Given the description of an element on the screen output the (x, y) to click on. 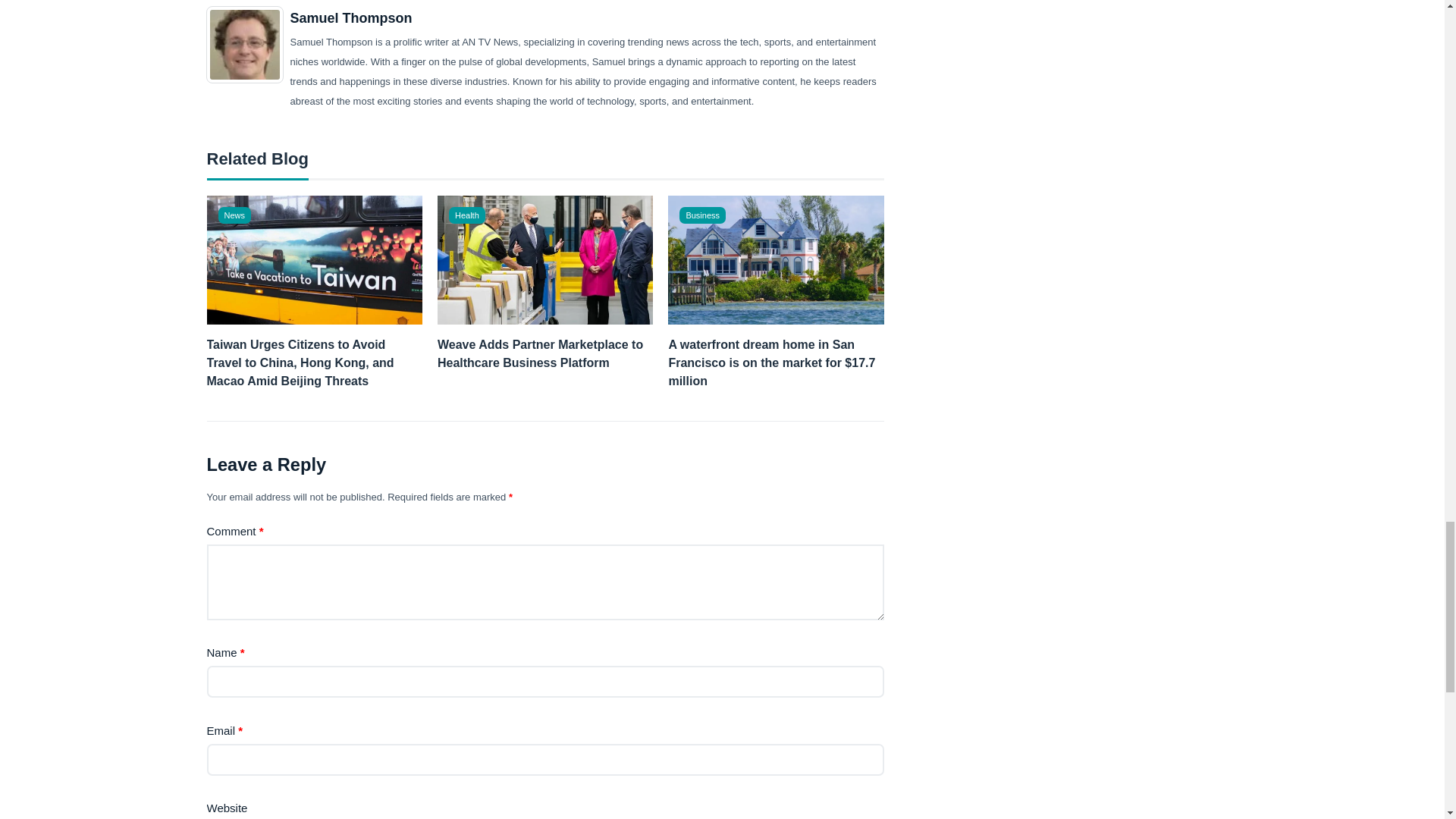
Health (466, 215)
Posts by Samuel Thompson (350, 17)
News (234, 215)
Business (702, 215)
Samuel Thompson (350, 17)
